Given the description of an element on the screen output the (x, y) to click on. 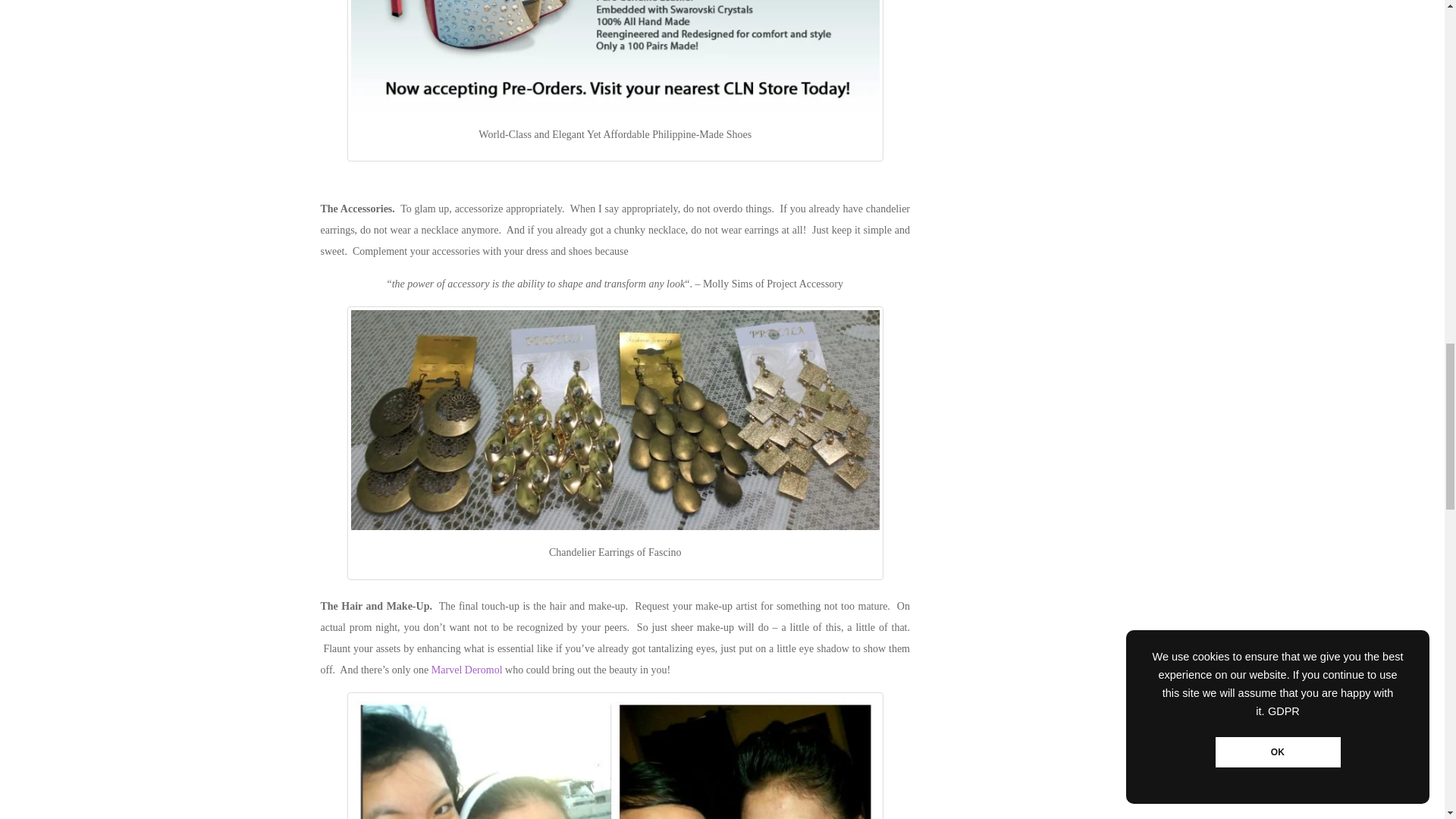
Marvel Deromol (466, 669)
